Given the description of an element on the screen output the (x, y) to click on. 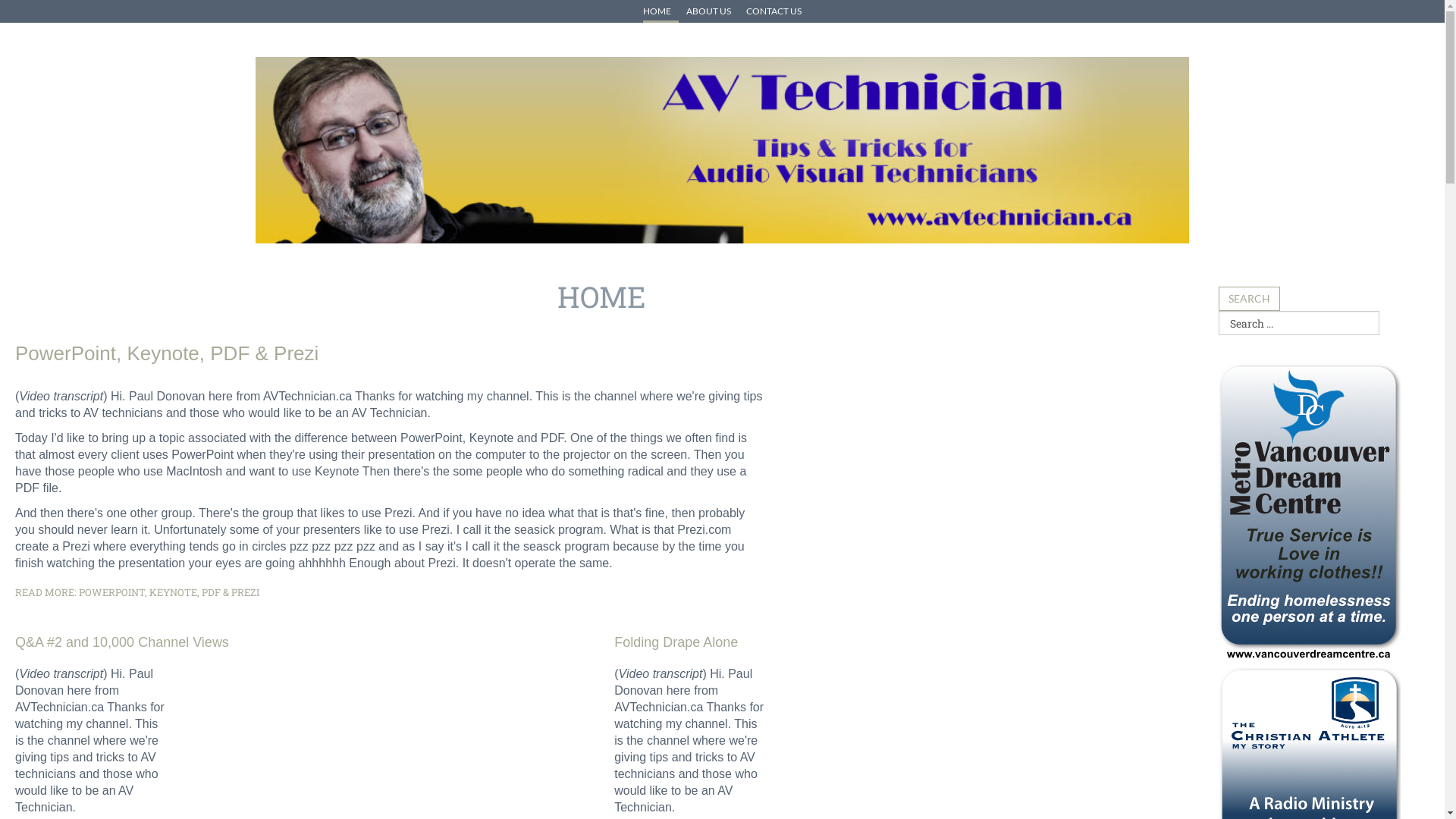
HOME Element type: text (660, 11)
READ MORE: POWERPOINT, KEYNOTE, PDF & PREZI Element type: text (137, 591)
PowerPoint, Keynote, PDF & Prezi Element type: text (166, 353)
CONTACT US Element type: text (769, 11)
SEARCH Element type: text (1249, 298)
ABOUT US Element type: text (708, 11)
MVDCS Element type: hover (1309, 512)
Folding Drape Alone Element type: text (675, 641)
Q&A #2 and 10,000 Channel Views Element type: text (122, 641)
